Given the description of an element on the screen output the (x, y) to click on. 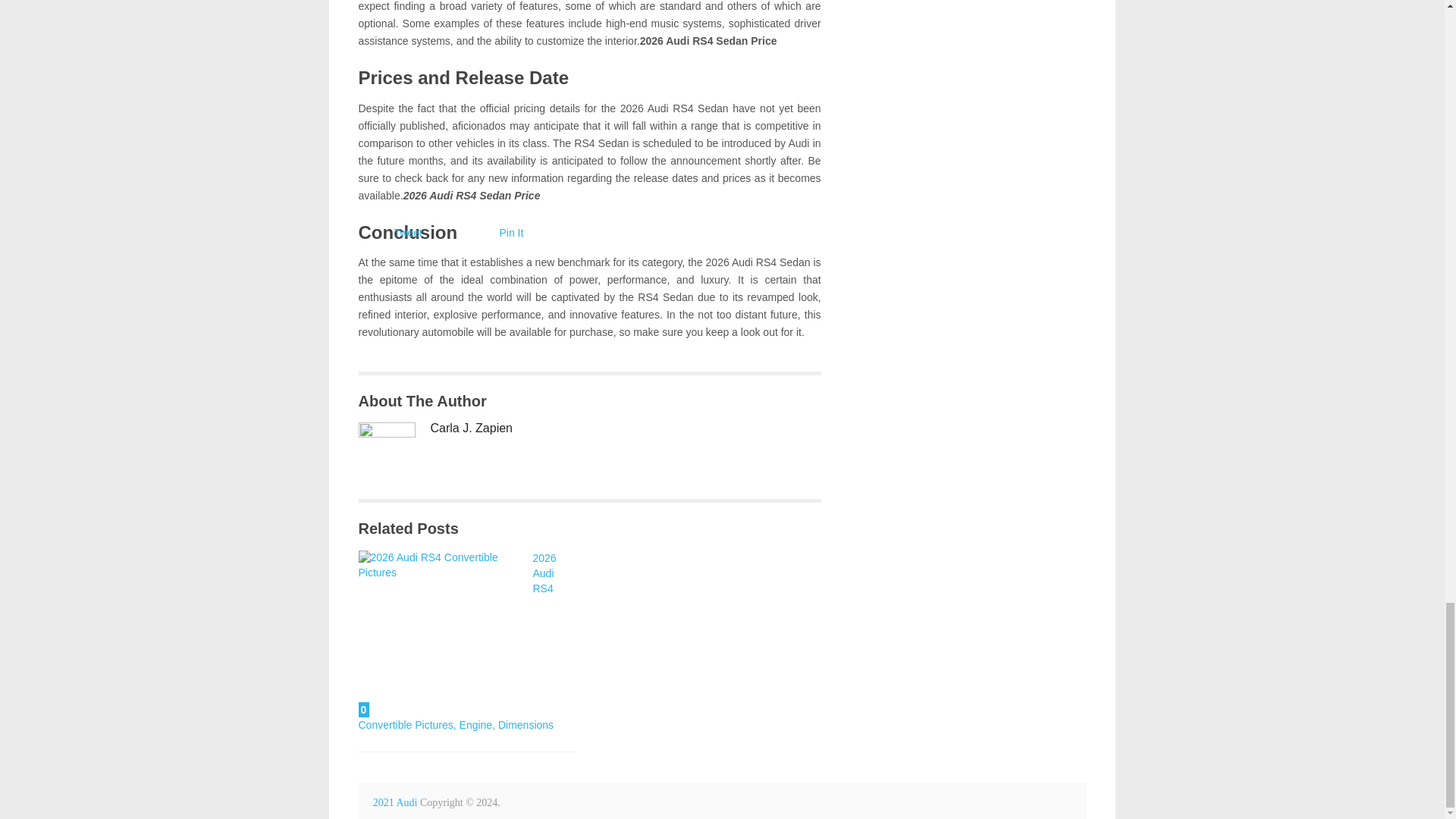
2026 Audi RS4 Convertible Pictures, Engine, Dimensions (441, 633)
 2021-2022 Audi Design, Engine, Price, Release (394, 802)
2026 Audi RS4 Convertible Pictures, Engine, Dimensions (457, 641)
